Given the description of an element on the screen output the (x, y) to click on. 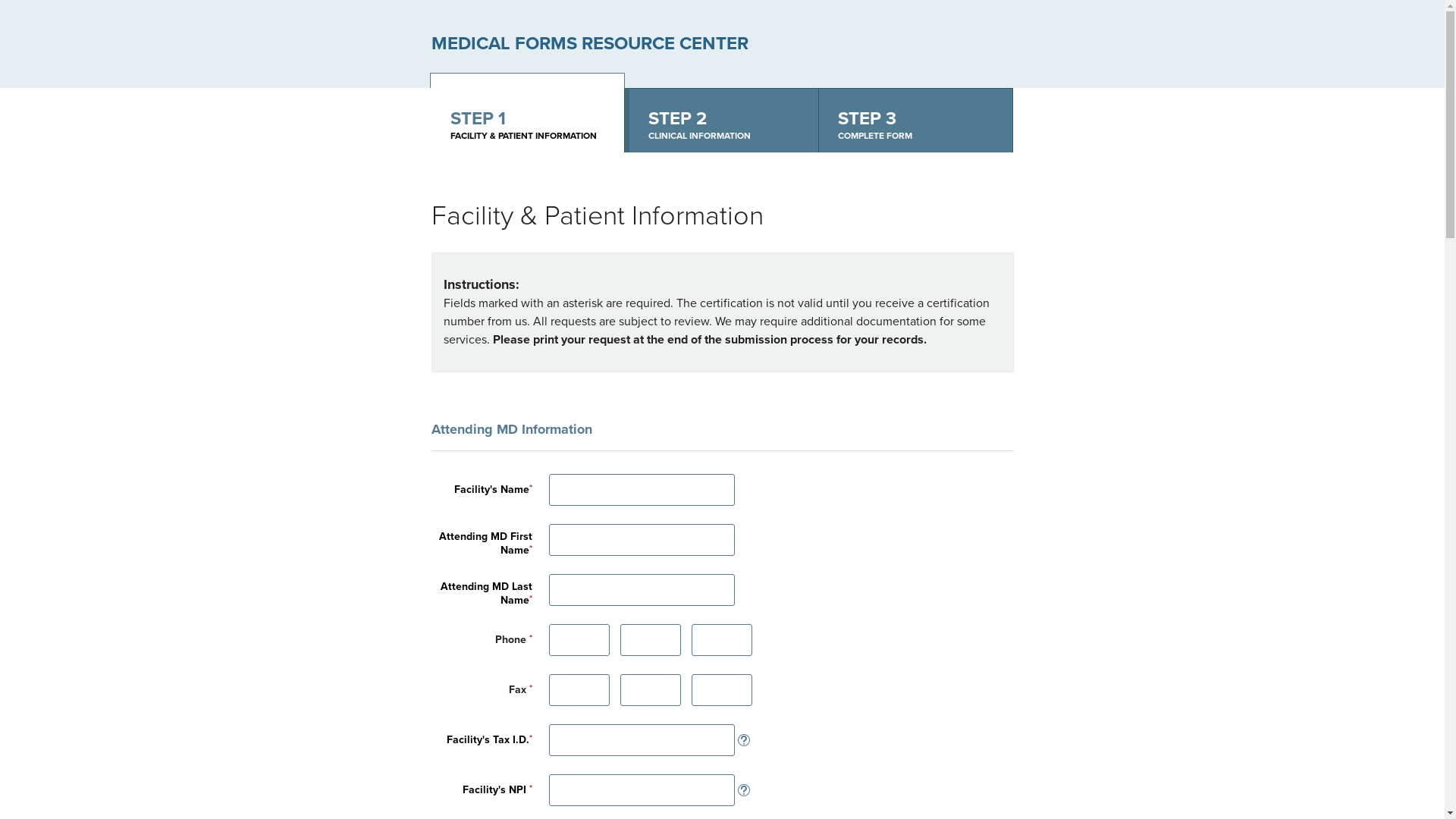
tool tip Element type: text (743, 735)
tool tip Element type: text (743, 785)
MEDICAL FORMS RESOURCE CENTER Element type: text (588, 43)
